Given the description of an element on the screen output the (x, y) to click on. 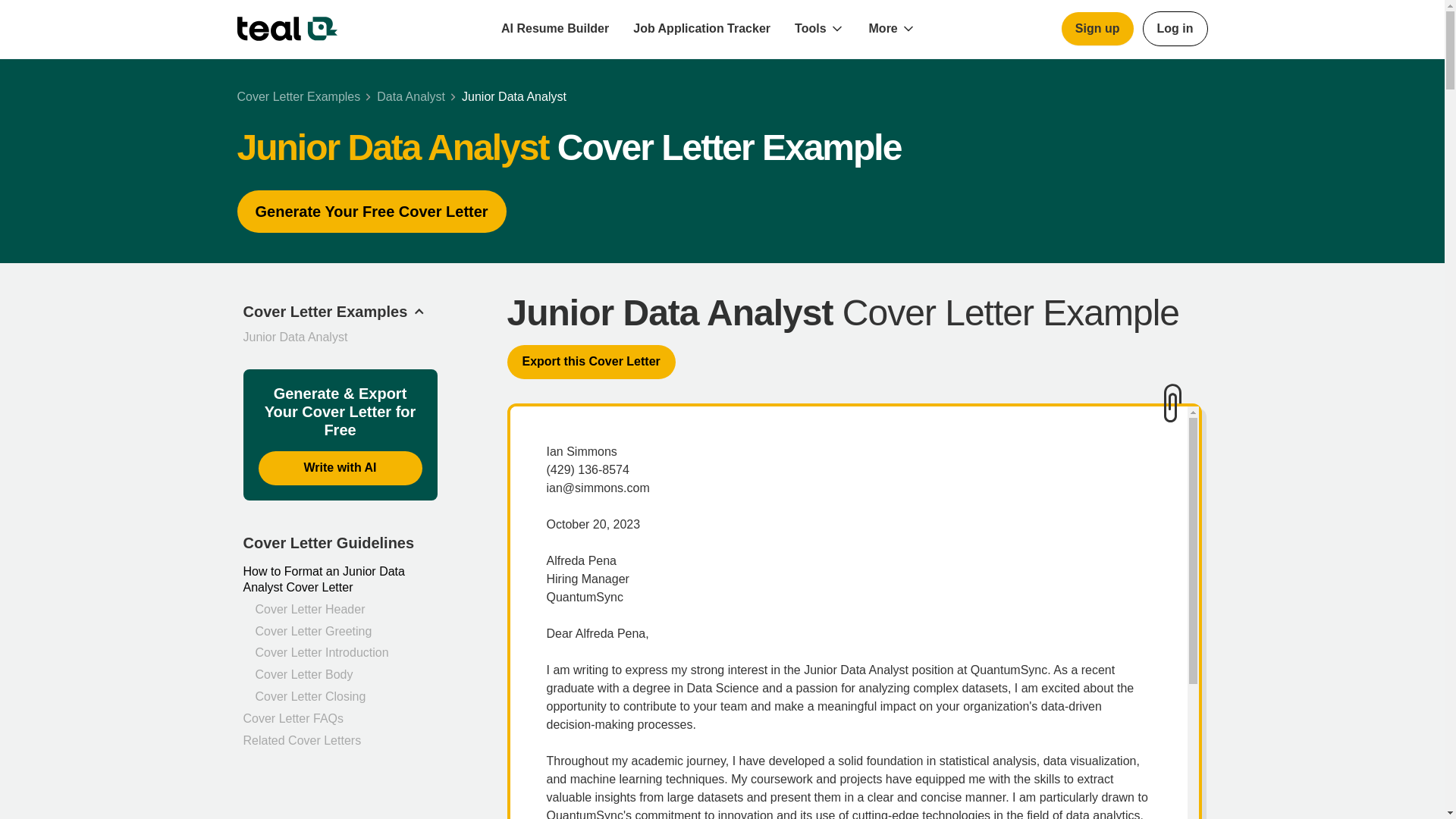
Cover Letter Greeting (345, 631)
Cover Letter Body (345, 675)
Junior Data Analyst (295, 336)
Cover Letter Introduction (345, 652)
Junior Data Analyst (513, 97)
Cover Letter FAQs (339, 719)
Cover Letter Examples (297, 97)
Log in (1175, 28)
Tools (809, 28)
Cover Letter Header (345, 609)
Cover Letter Closing (345, 697)
Data Analyst (411, 97)
How to Format an Junior Data Analyst Cover Letter (339, 580)
Generate Your Free Cover Letter (370, 211)
Job Application Tracker (702, 29)
